Given the description of an element on the screen output the (x, y) to click on. 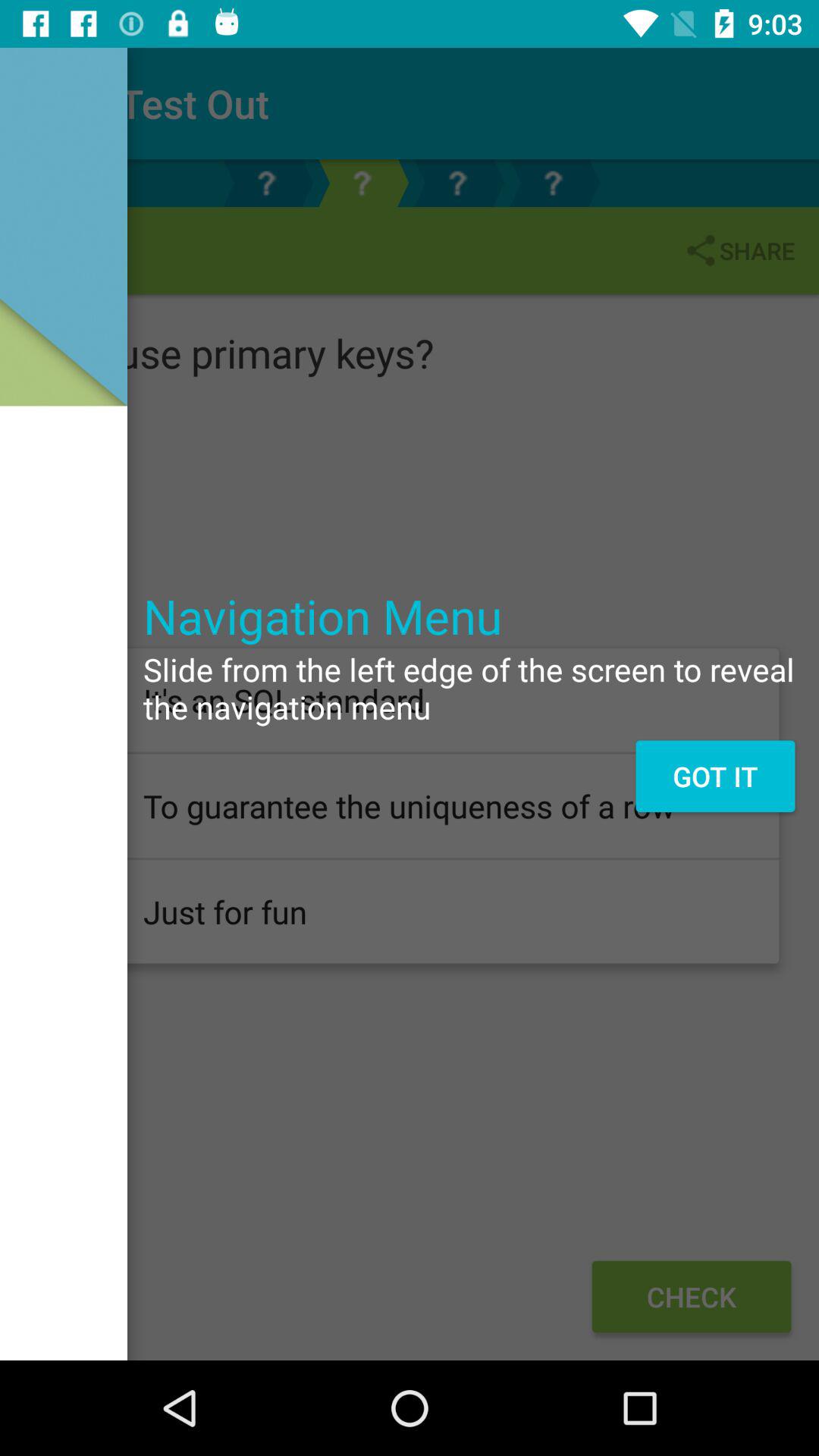
tap the item on the right (715, 776)
